Given the description of an element on the screen output the (x, y) to click on. 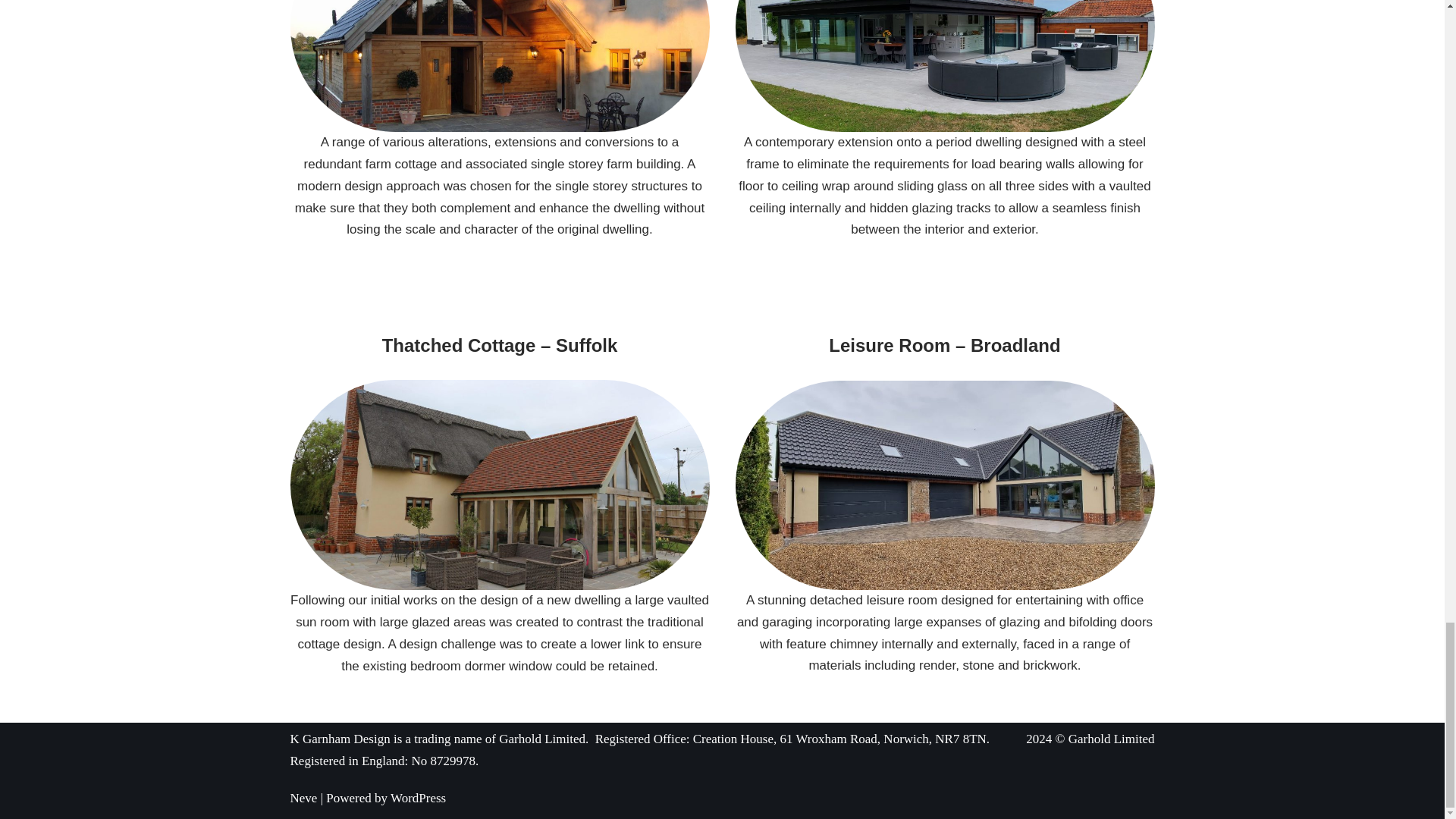
WordPress (417, 798)
Neve (303, 798)
